Given the description of an element on the screen output the (x, y) to click on. 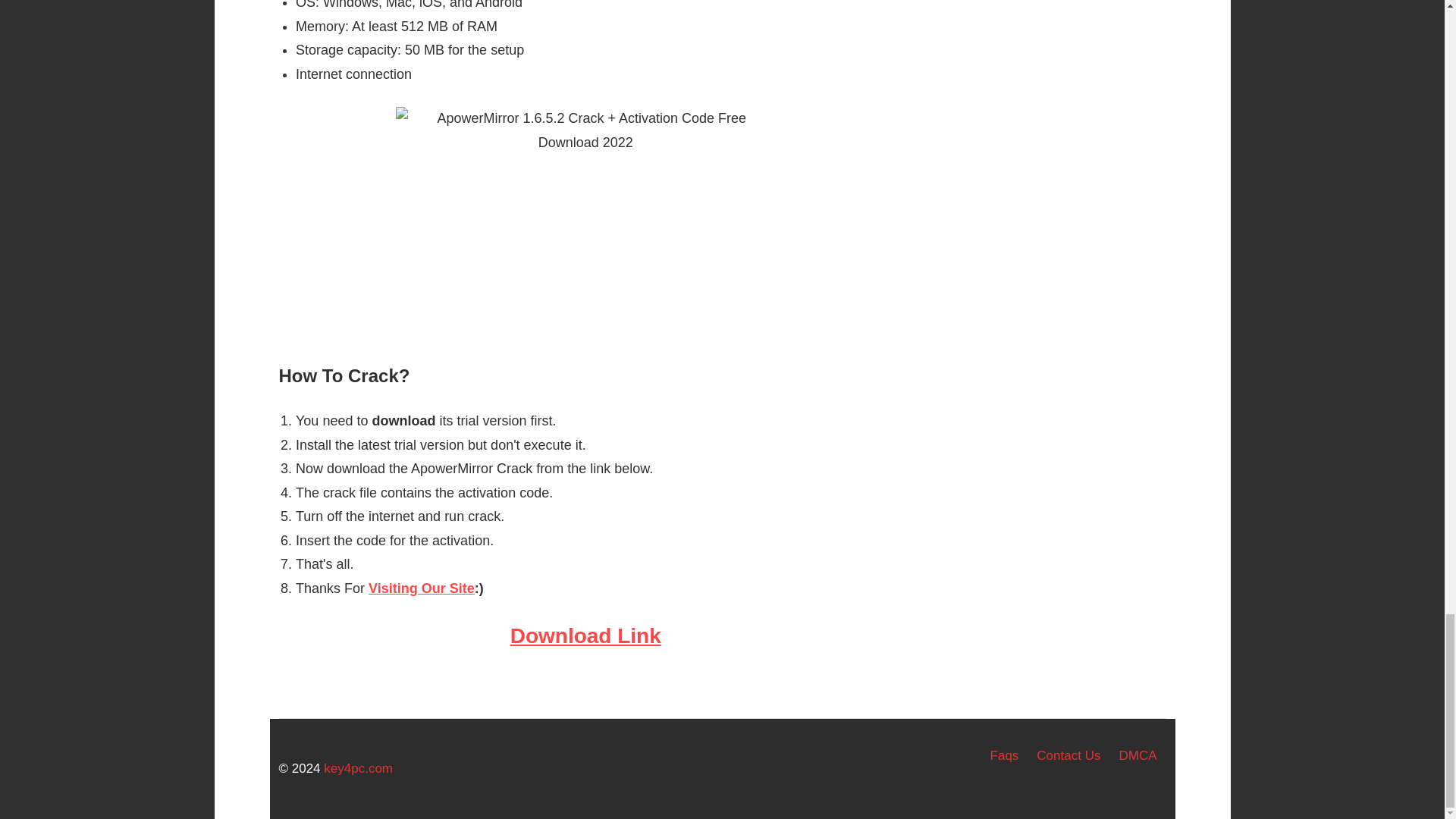
Download Link (586, 635)
Visiting Our Site (421, 588)
